Given the description of an element on the screen output the (x, y) to click on. 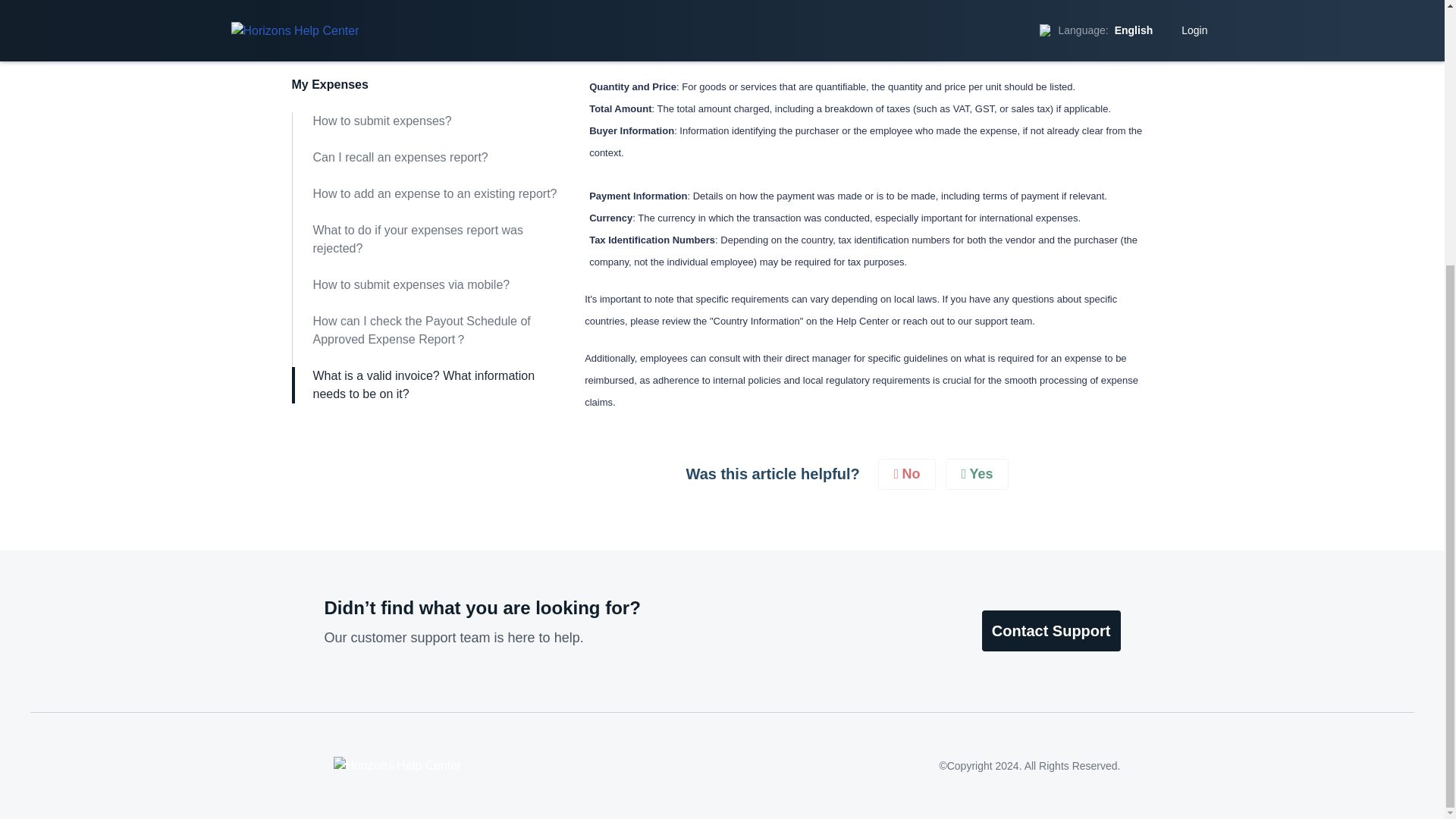
What is a valid invoice? What information needs to be on it? (423, 86)
Contact Support (1051, 630)
No (906, 473)
Horizons Help Center (397, 765)
Yes (976, 473)
